Given the description of an element on the screen output the (x, y) to click on. 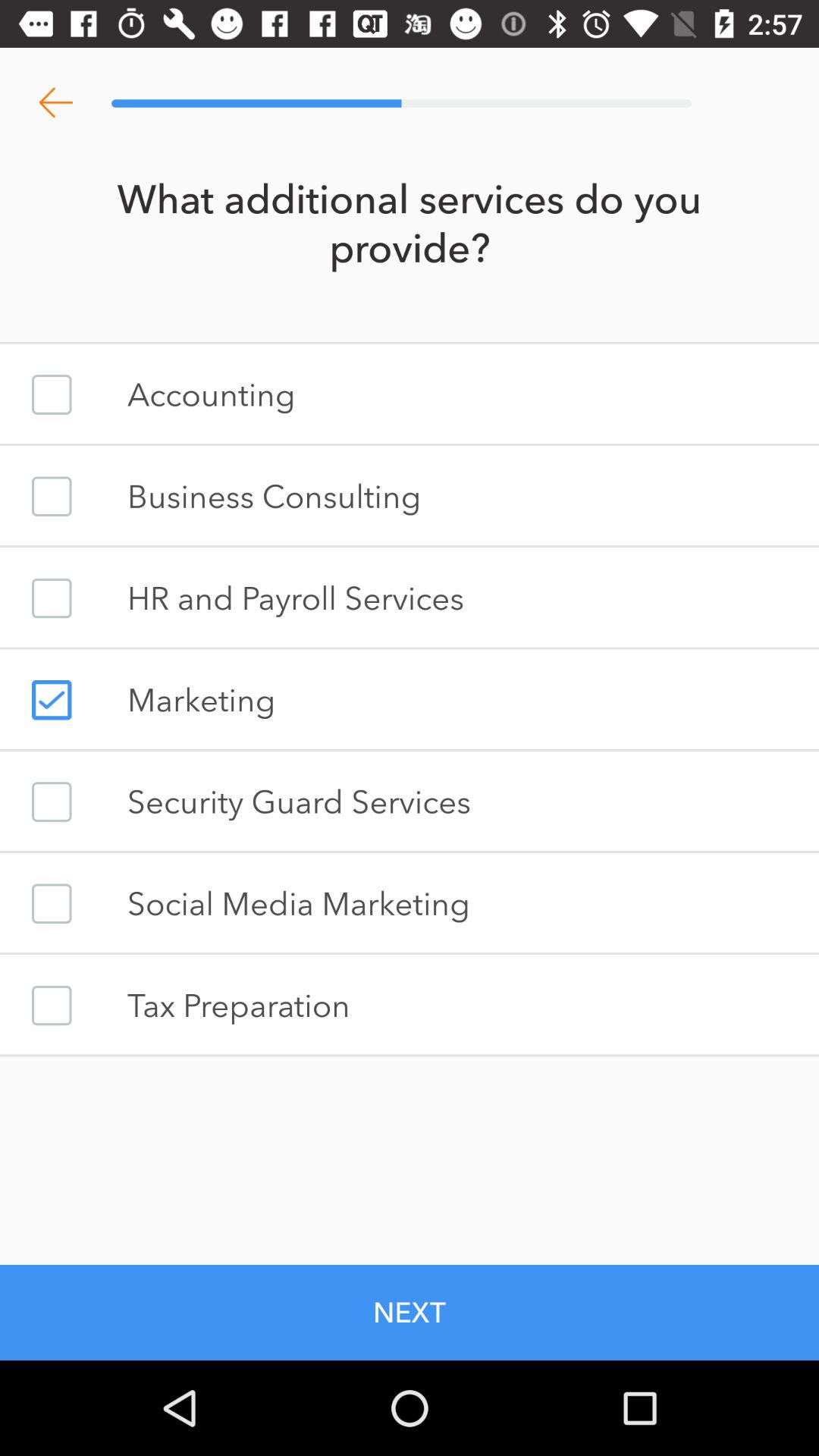
select option (51, 1005)
